Given the description of an element on the screen output the (x, y) to click on. 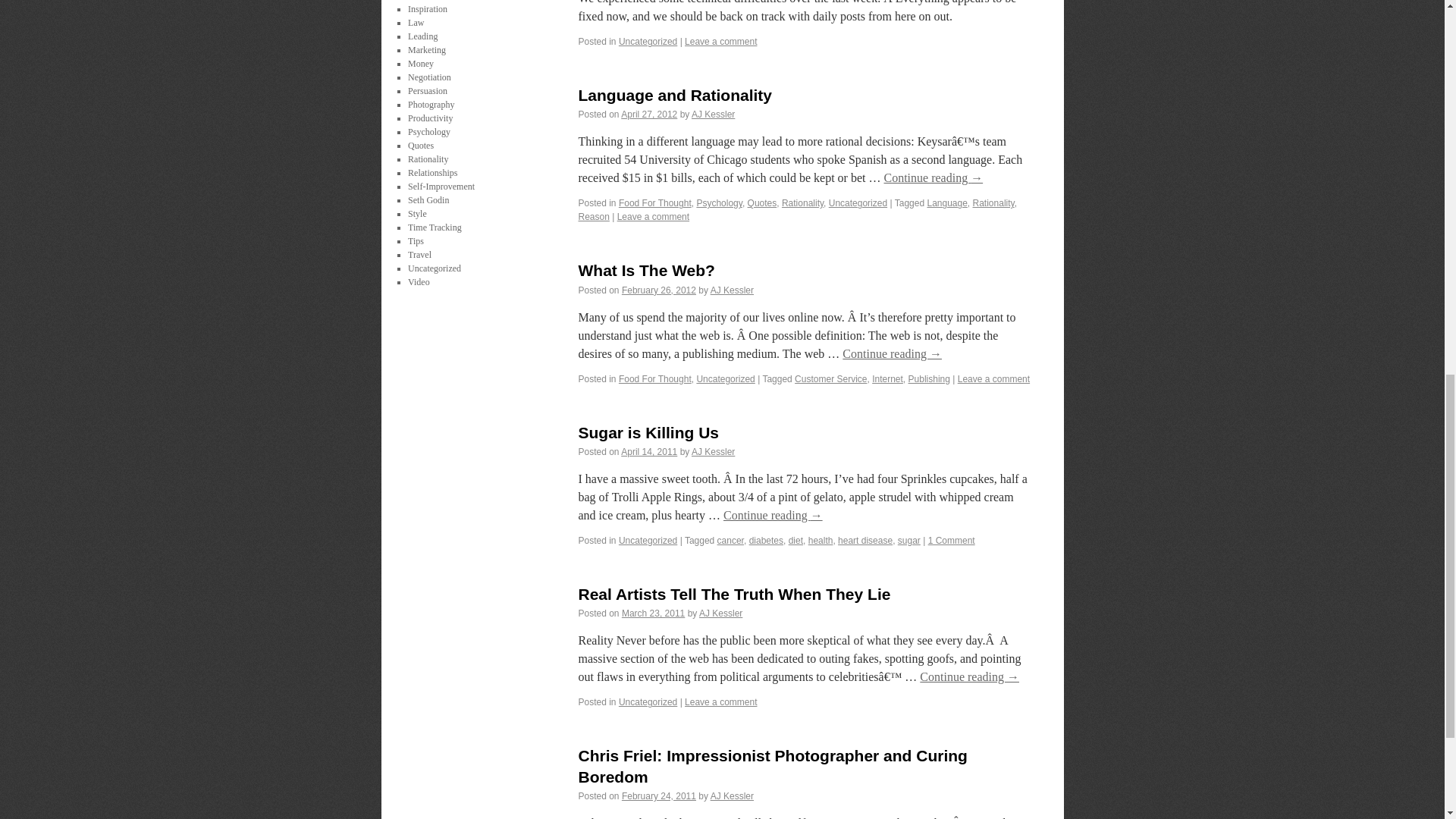
Food For Thought (654, 203)
What Is The Web? (646, 270)
February 26, 2012 (658, 290)
Psychology (718, 203)
10:00 pm (649, 113)
Language (946, 203)
Quotes (762, 203)
April 27, 2012 (649, 113)
Leave a comment (652, 216)
Uncategorized (647, 41)
Language and Rationality (674, 95)
View all posts by AJ Kessler (713, 113)
Reason (593, 216)
Leave a comment (720, 41)
Rationality (802, 203)
